Given the description of an element on the screen output the (x, y) to click on. 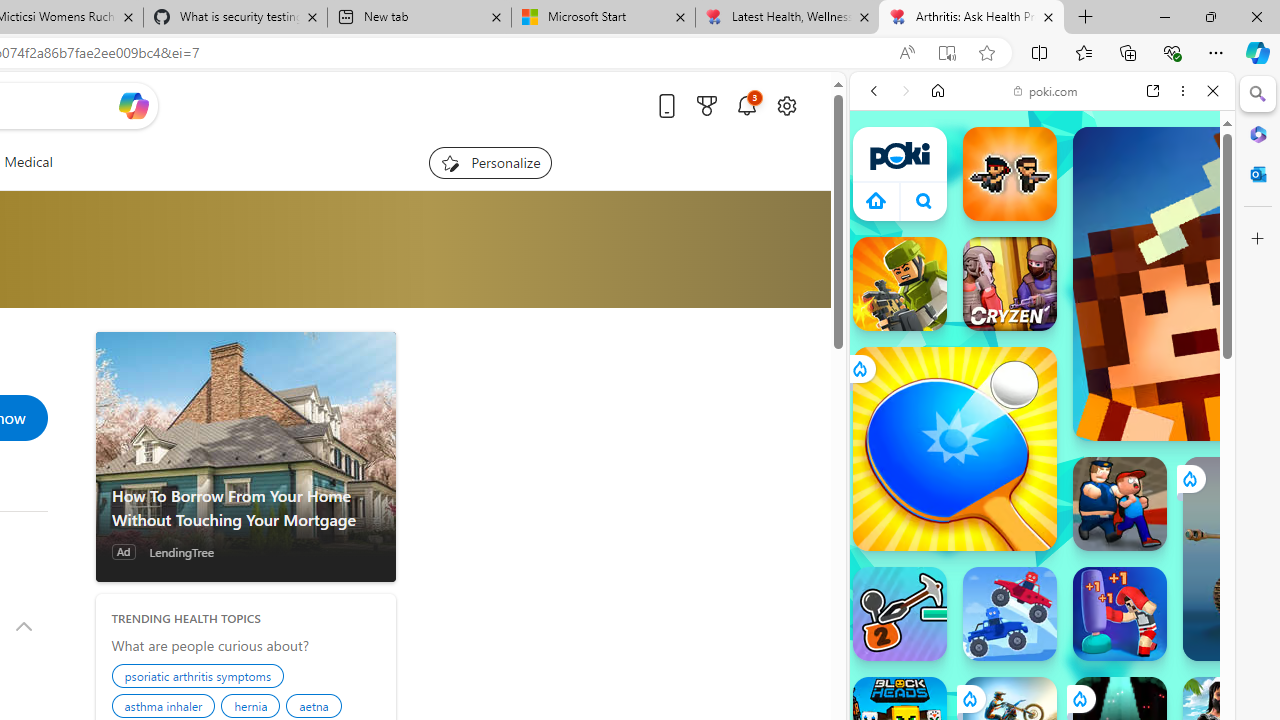
Cryzen.io (1009, 283)
